Given the description of an element on the screen output the (x, y) to click on. 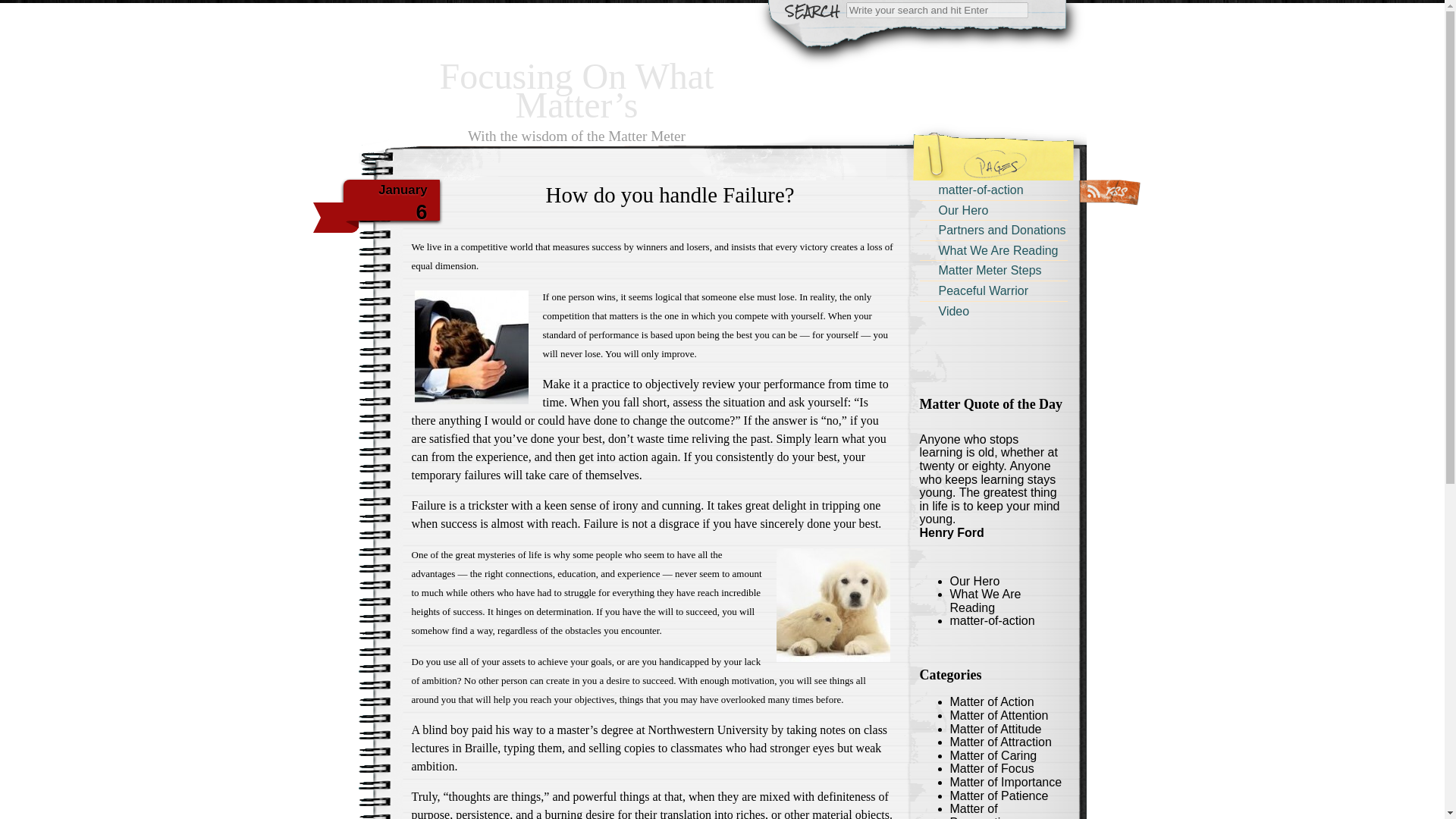
Video (992, 311)
What We Are Reading (992, 250)
Search (21, 7)
What We Are Reading (984, 601)
Matter of Attention (998, 715)
Matter of Attraction (1000, 741)
Our Hero (992, 209)
Matter of Action (991, 701)
Matter of Attitude (995, 728)
Partners and Donations (992, 230)
Matter Meter Steps (992, 270)
Matter of Focus (991, 768)
Matter of Caring (992, 755)
Matter of Importance (1005, 781)
matter-of-action (991, 620)
